Given the description of an element on the screen output the (x, y) to click on. 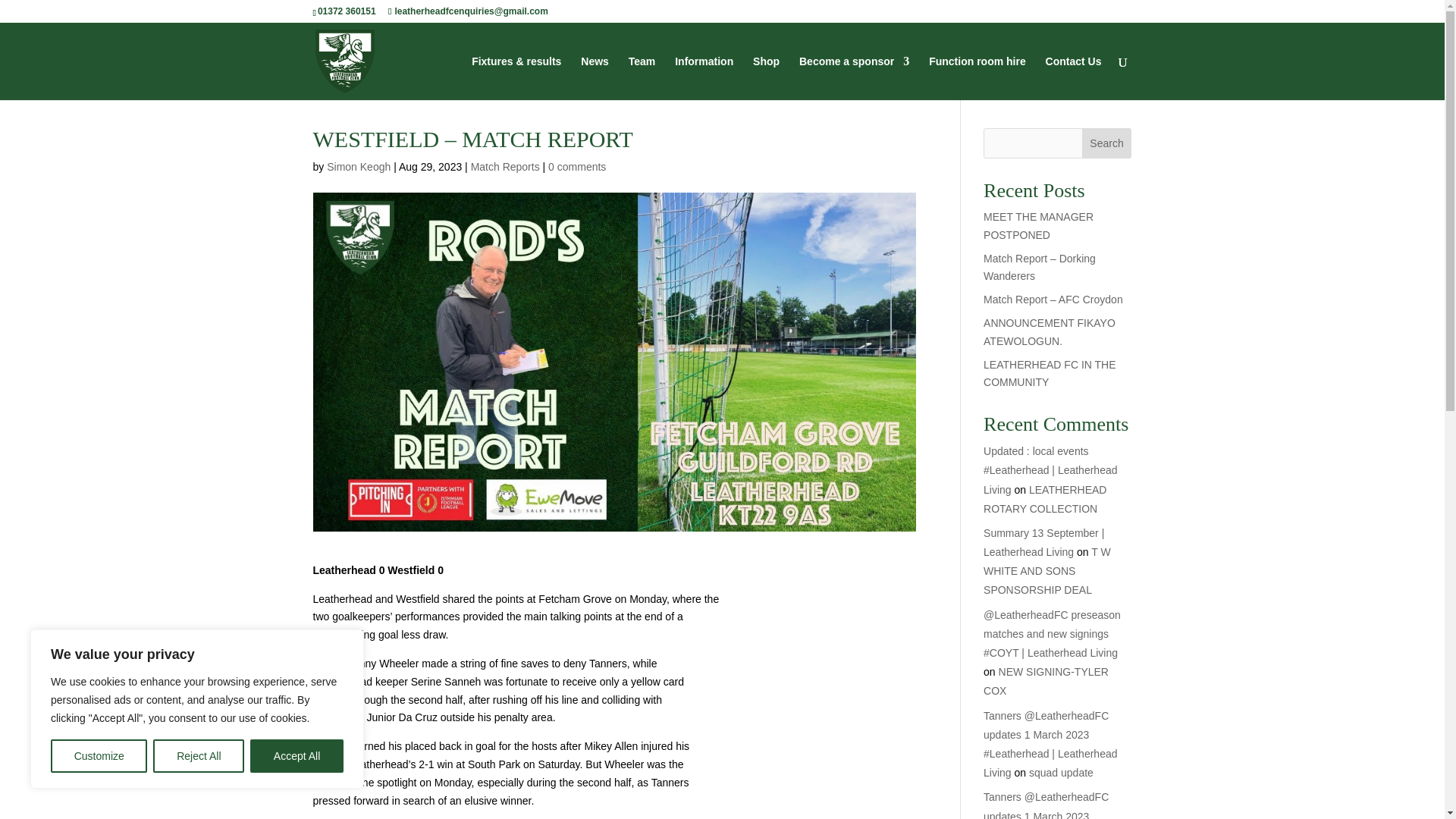
Function room hire (977, 77)
Become a sponsor (853, 77)
Accept All (296, 756)
Reject All (198, 756)
Contact Us (1073, 77)
Customize (98, 756)
Search (1106, 142)
MEET THE MANAGER POSTPONED (1038, 225)
0 comments (576, 166)
Posts by Simon Keogh (358, 166)
Information (704, 77)
Match Reports (505, 166)
Simon Keogh (358, 166)
